Given the description of an element on the screen output the (x, y) to click on. 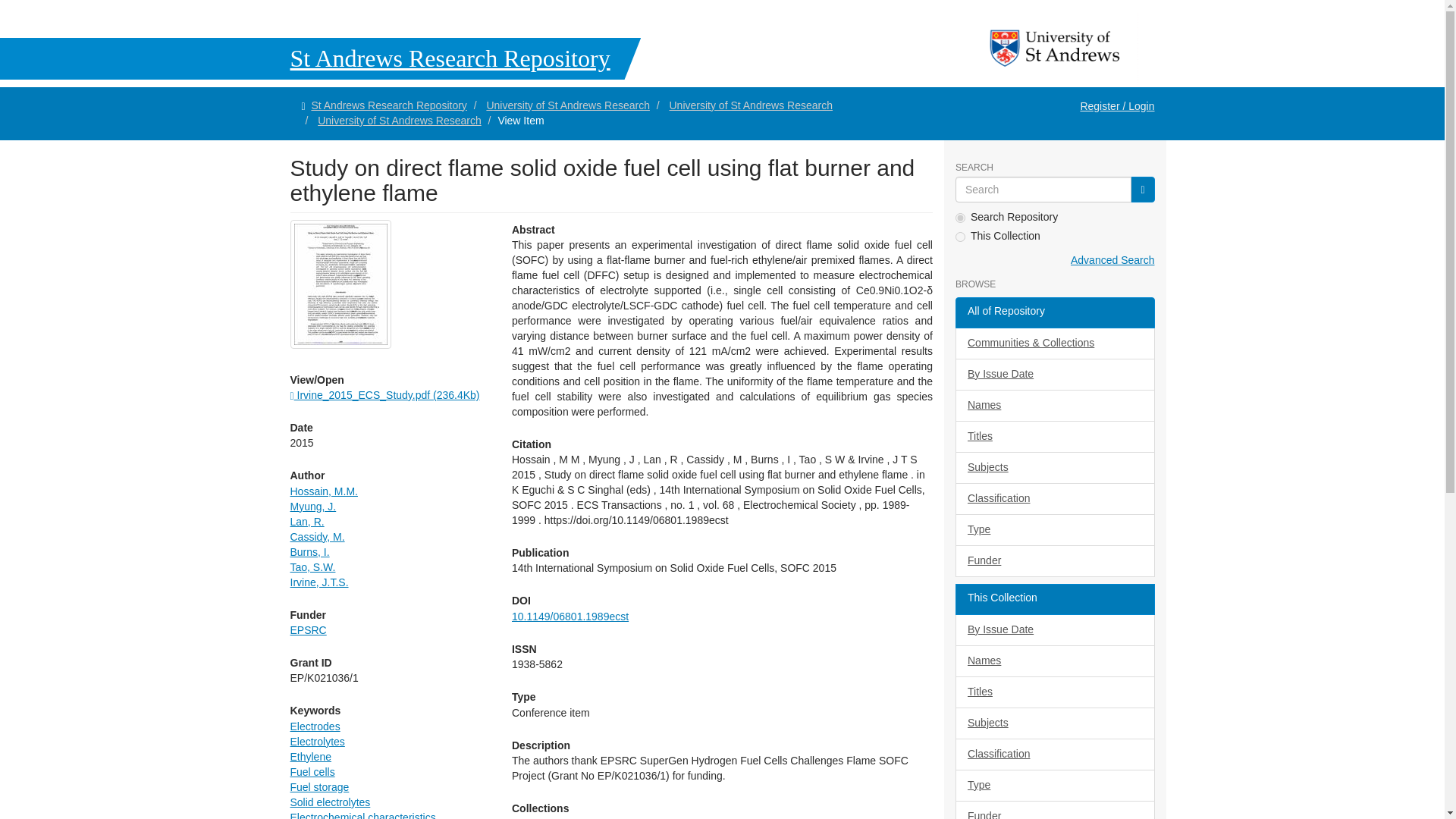
Irvine, J.T.S. (318, 582)
University of St Andrews Research (750, 105)
Myung, J. (312, 506)
Cassidy, M. (316, 536)
Electrochemical characteristics (362, 815)
Ethylene (309, 756)
Go (1142, 189)
Lan, R. (306, 521)
University of St Andrews Research (399, 120)
Fuel storage (319, 787)
University of St Andrews Research (567, 105)
EPSRC (307, 630)
Solid electrolytes (329, 802)
Burns, I. (309, 551)
Fuel cells (311, 771)
